Given the description of an element on the screen output the (x, y) to click on. 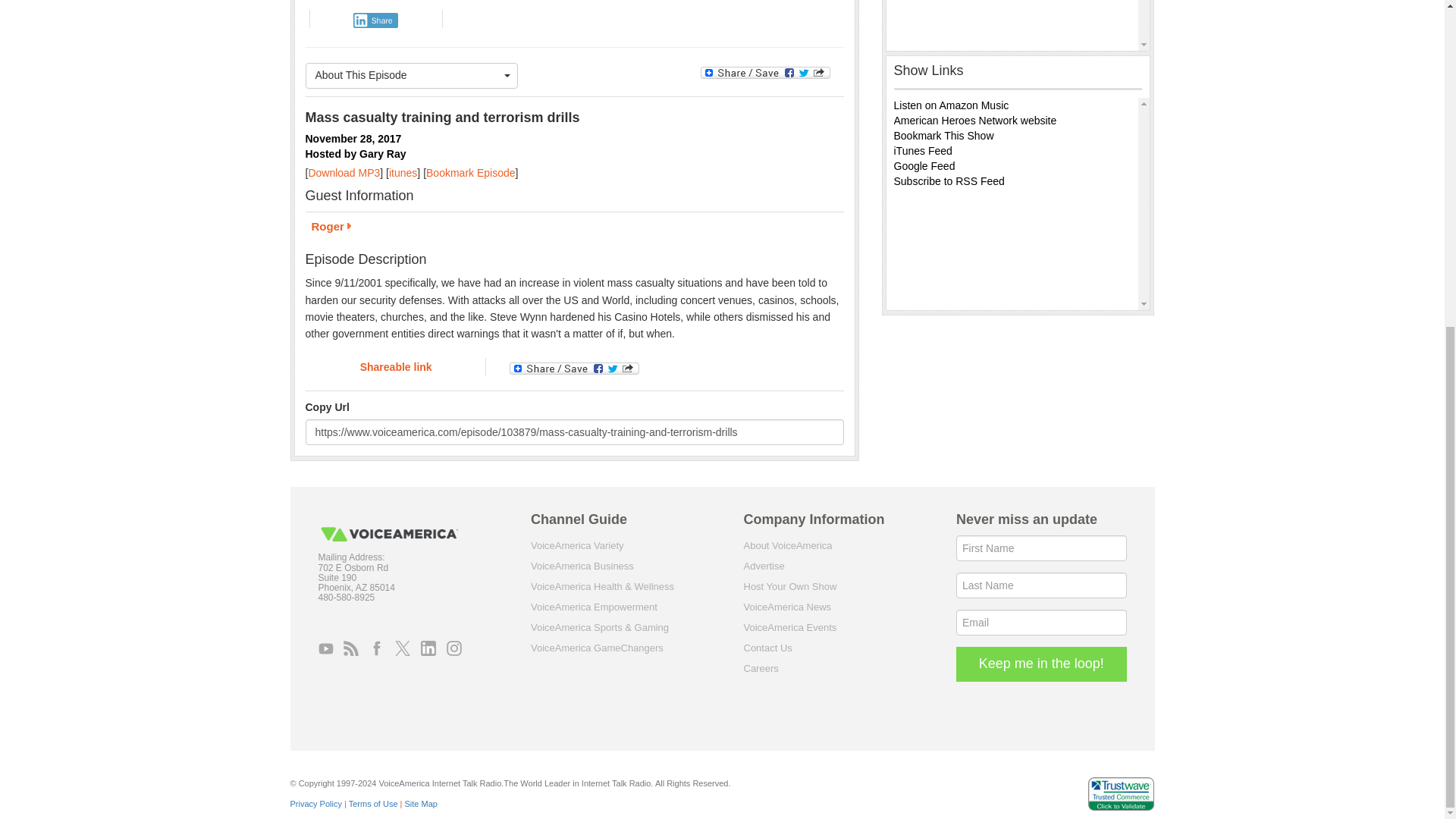
Roger (573, 227)
Share (375, 20)
